Given the description of an element on the screen output the (x, y) to click on. 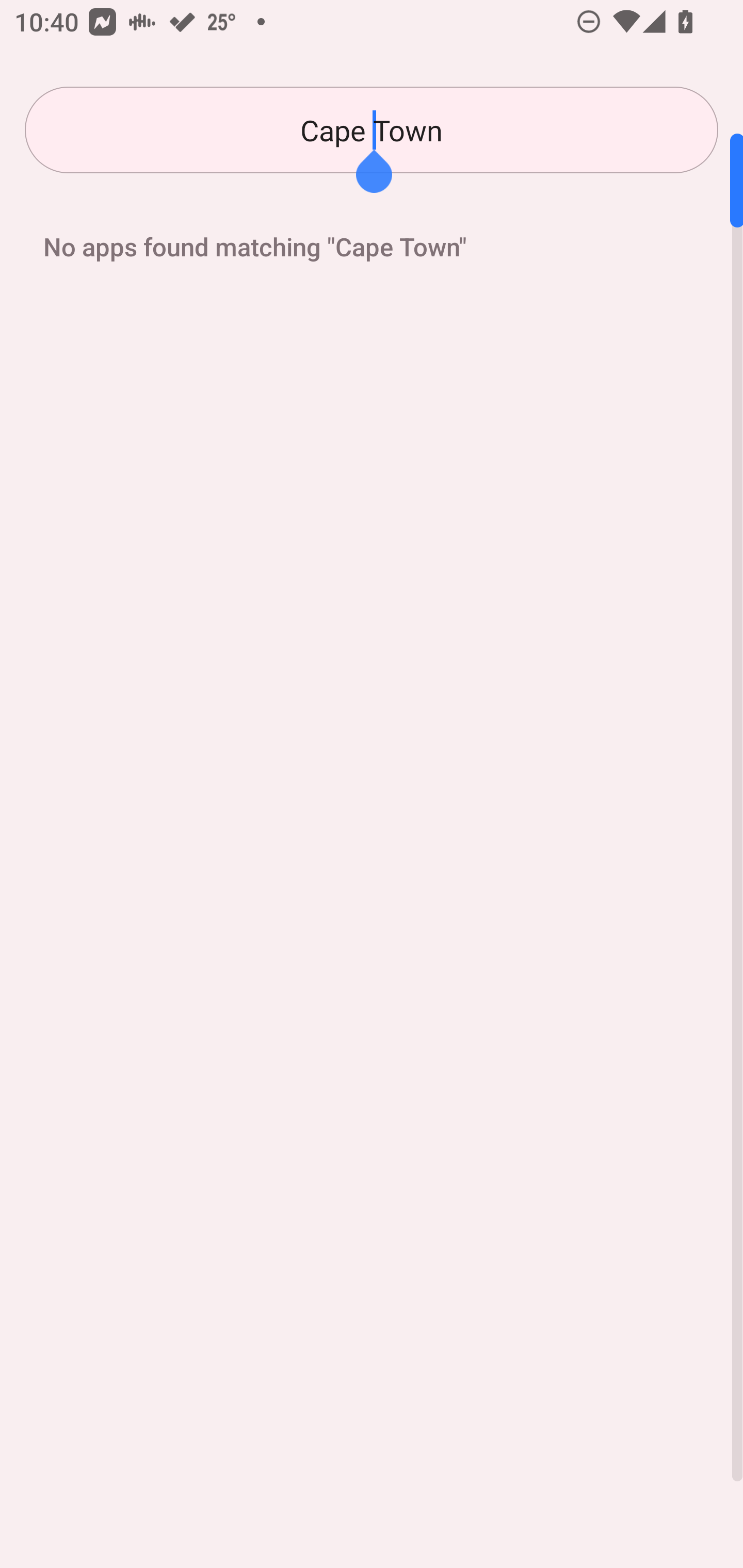
Cape Town (371, 130)
